Given the description of an element on the screen output the (x, y) to click on. 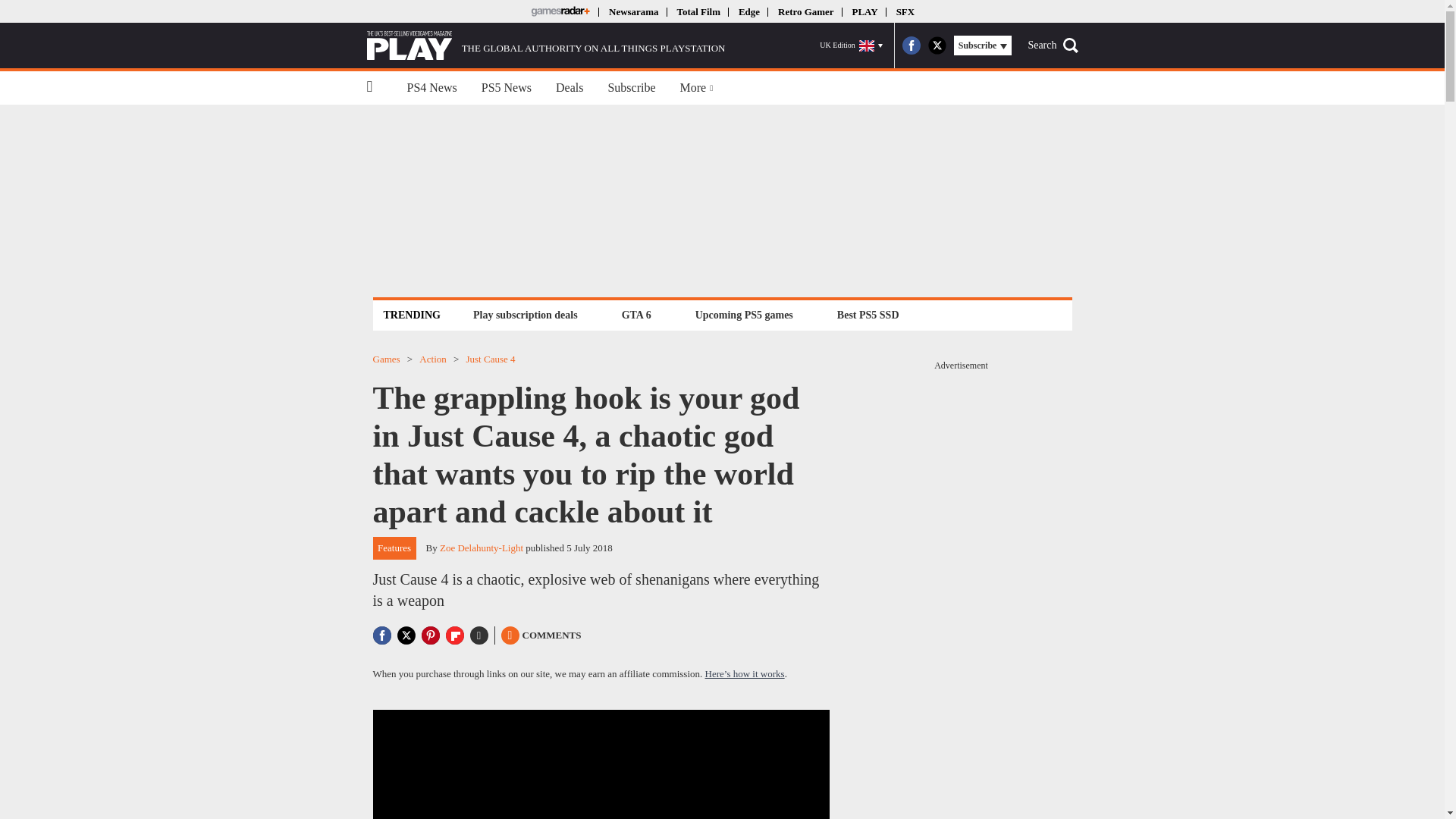
PS5 News (505, 87)
GTA 6 (635, 314)
Play subscription deals (525, 314)
Best PS5 SSD (867, 314)
Retro Gamer (805, 11)
Deals (569, 87)
Edge (749, 11)
PLAY (864, 11)
Total Film (698, 11)
SFX (905, 11)
